Given the description of an element on the screen output the (x, y) to click on. 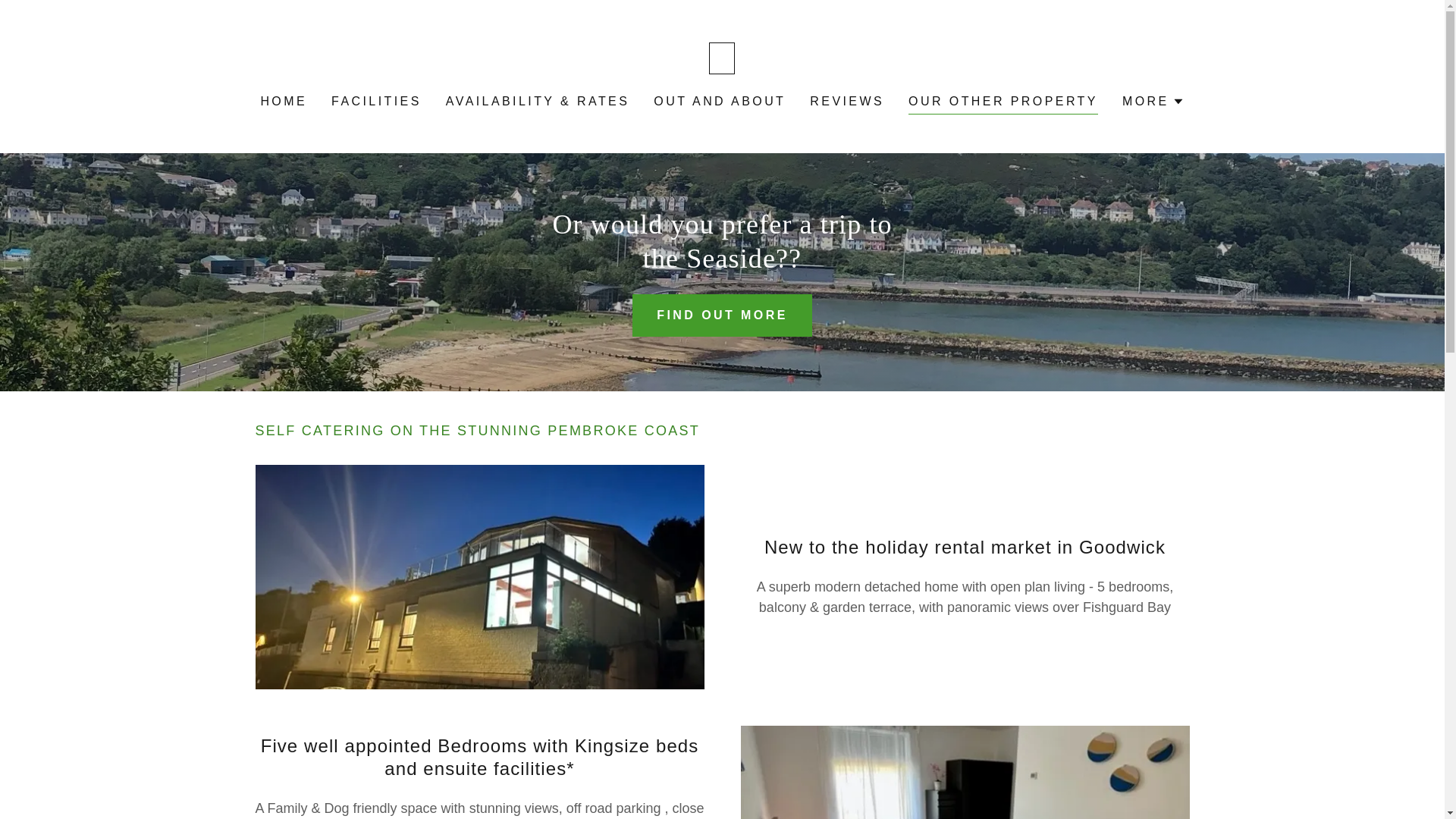
HOME (283, 101)
FACILITIES (376, 101)
OUT AND ABOUT (719, 101)
FIND OUT MORE (721, 315)
REVIEWS (846, 101)
OUR OTHER PROPERTY (1002, 103)
MORE (1153, 101)
